Given the description of an element on the screen output the (x, y) to click on. 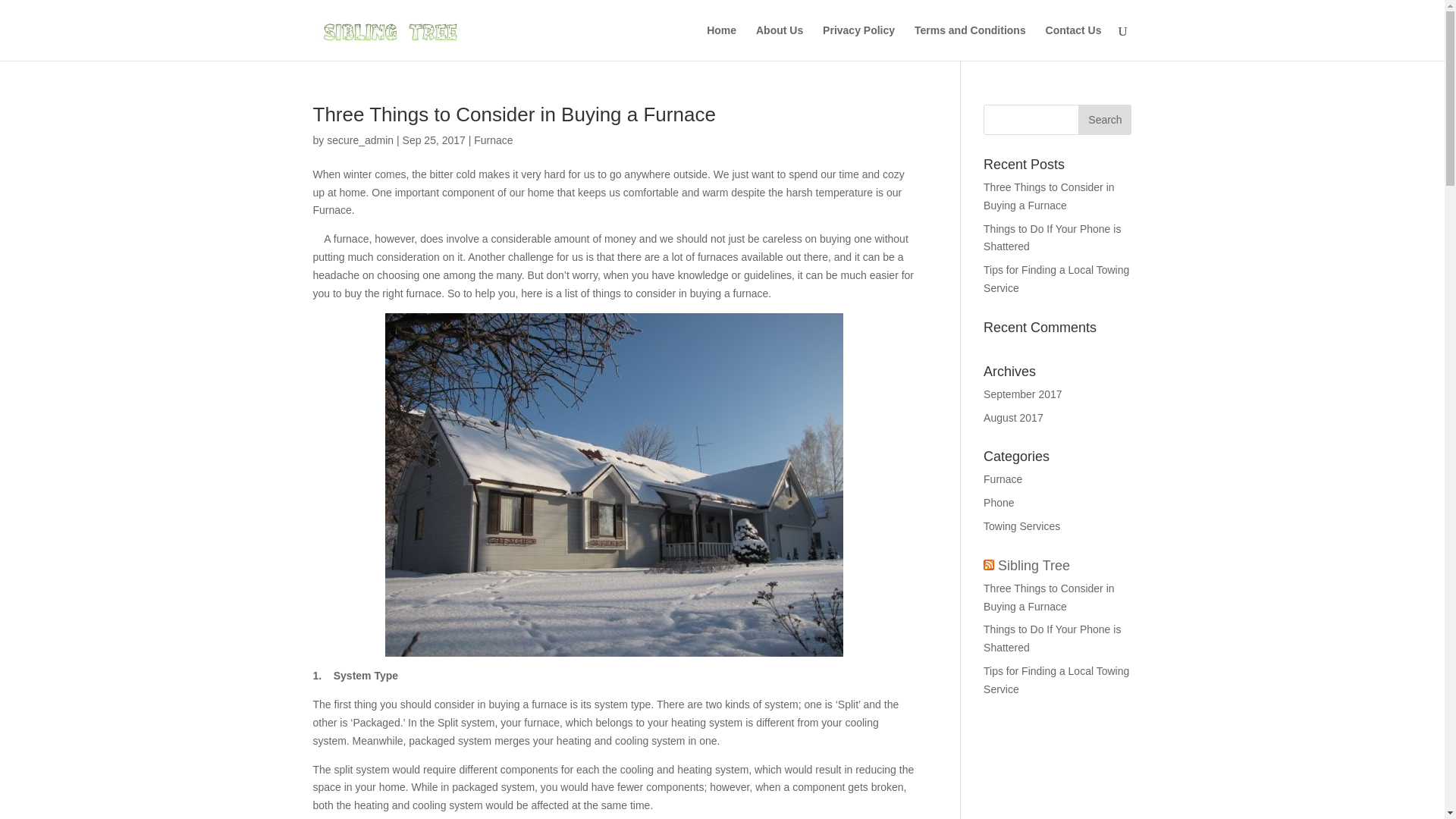
Things to Do If Your Phone is Shattered (1052, 237)
About Us (779, 42)
Sibling Tree (1033, 565)
Phone (998, 502)
Three Things to Consider in Buying a Furnace  (1049, 195)
Furnace (493, 140)
Three Things to Consider in Buying a Furnace  (516, 114)
Furnace (1003, 479)
Tips for Finding a Local Towing Service  (1056, 278)
Search (1104, 119)
Privacy Policy (858, 42)
Three Things to Consider in Buying a Furnace  (1049, 597)
Search (1104, 119)
Terms and Conditions (970, 42)
Contact Us (1073, 42)
